Given the description of an element on the screen output the (x, y) to click on. 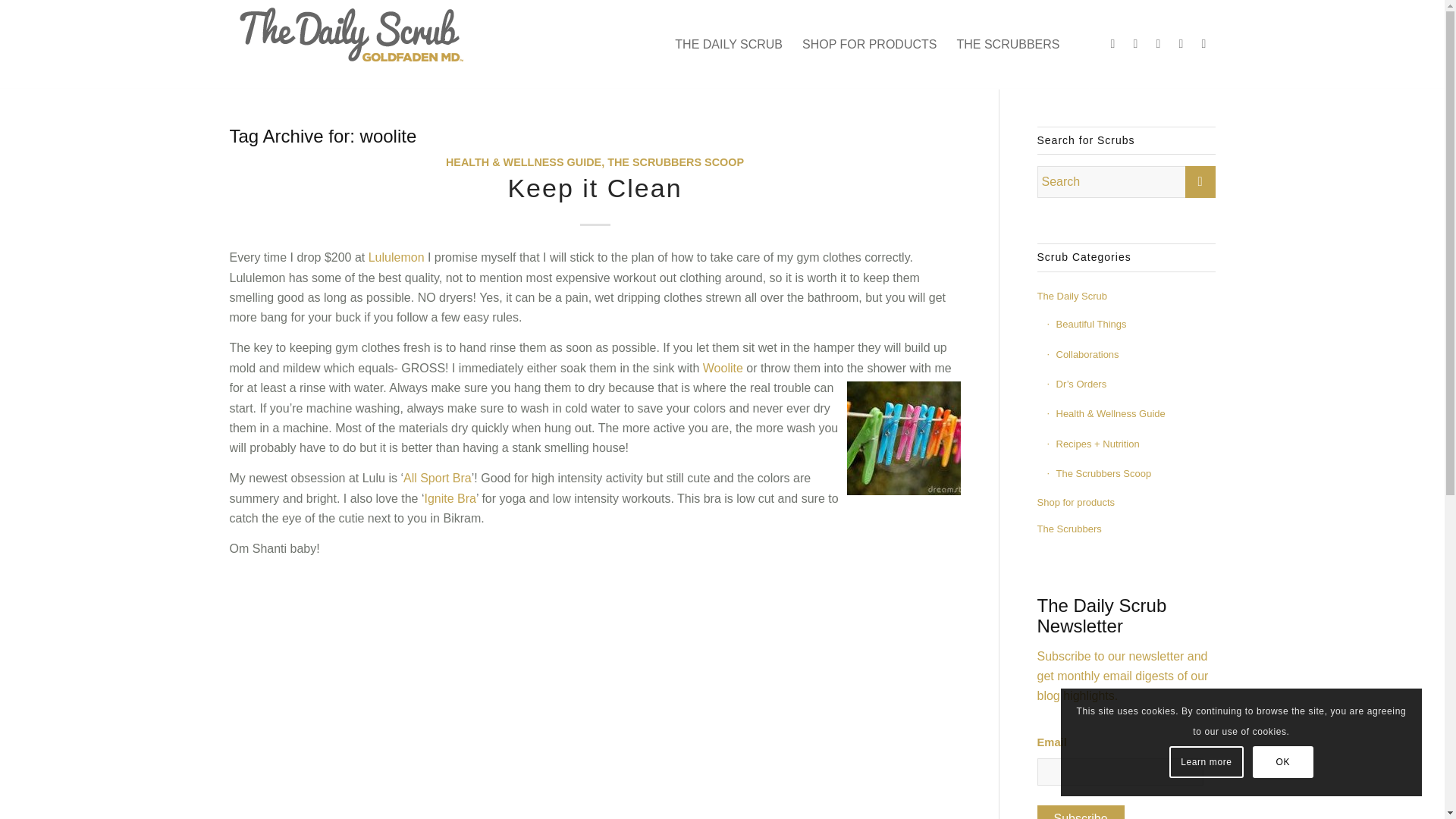
Beautiful Things (1130, 324)
Collaborations (1130, 355)
Keep it Clean (593, 187)
THE DAILY SCRUB (728, 44)
The Scrubbers (1125, 529)
Permanent Link: Keep it Clean (593, 187)
Lululemon (396, 256)
THE SCRUBBERS SCOOP (675, 162)
Ignite Bra (450, 498)
Pinterest (1158, 43)
the-dailyscrub-logo (352, 38)
SHOP FOR PRODUCTS (869, 44)
Instagram (1180, 43)
All Sport Bra (437, 477)
Subscribe (1080, 812)
